Given the description of an element on the screen output the (x, y) to click on. 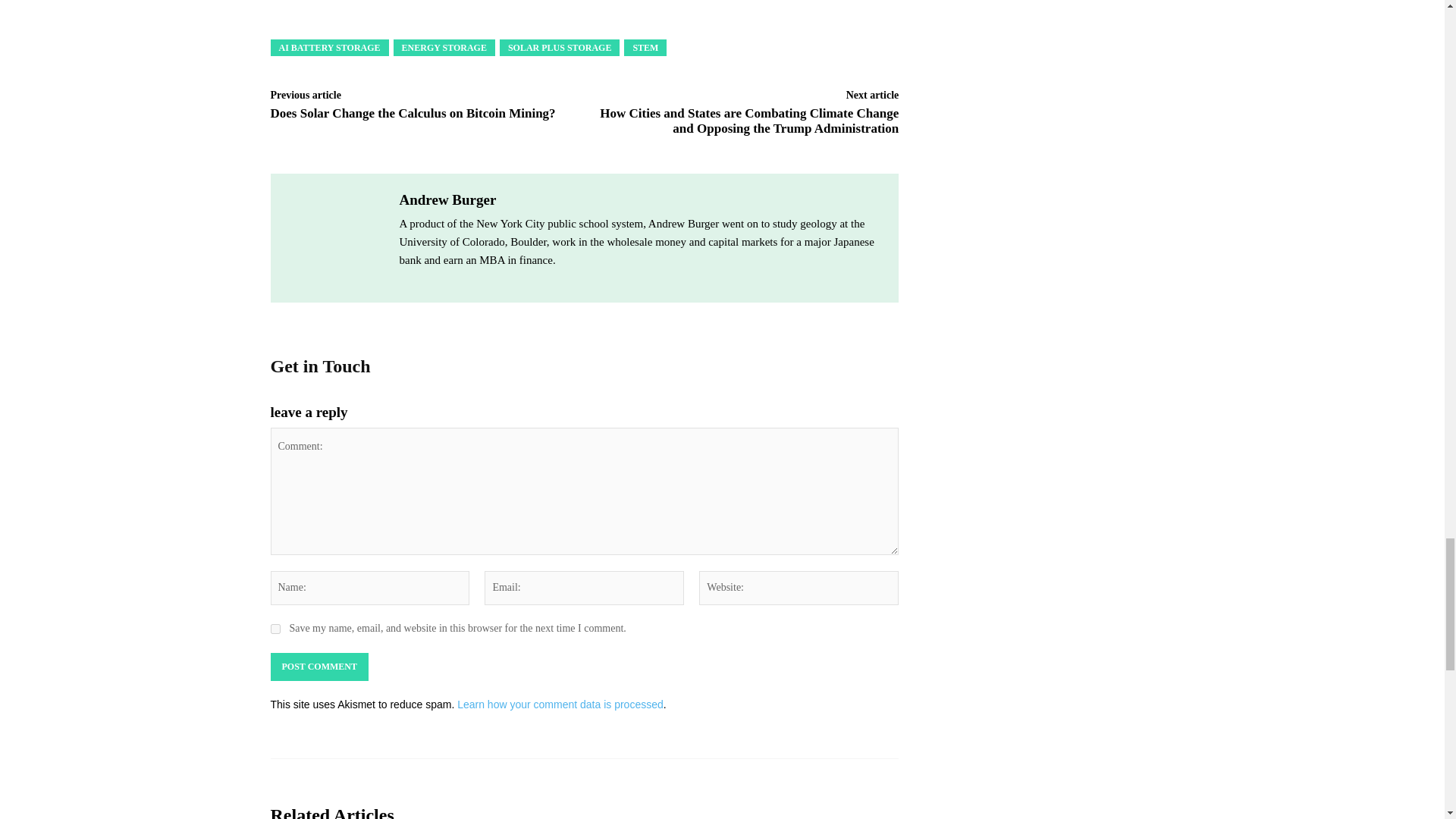
Post Comment (318, 666)
yes (274, 628)
